Given the description of an element on the screen output the (x, y) to click on. 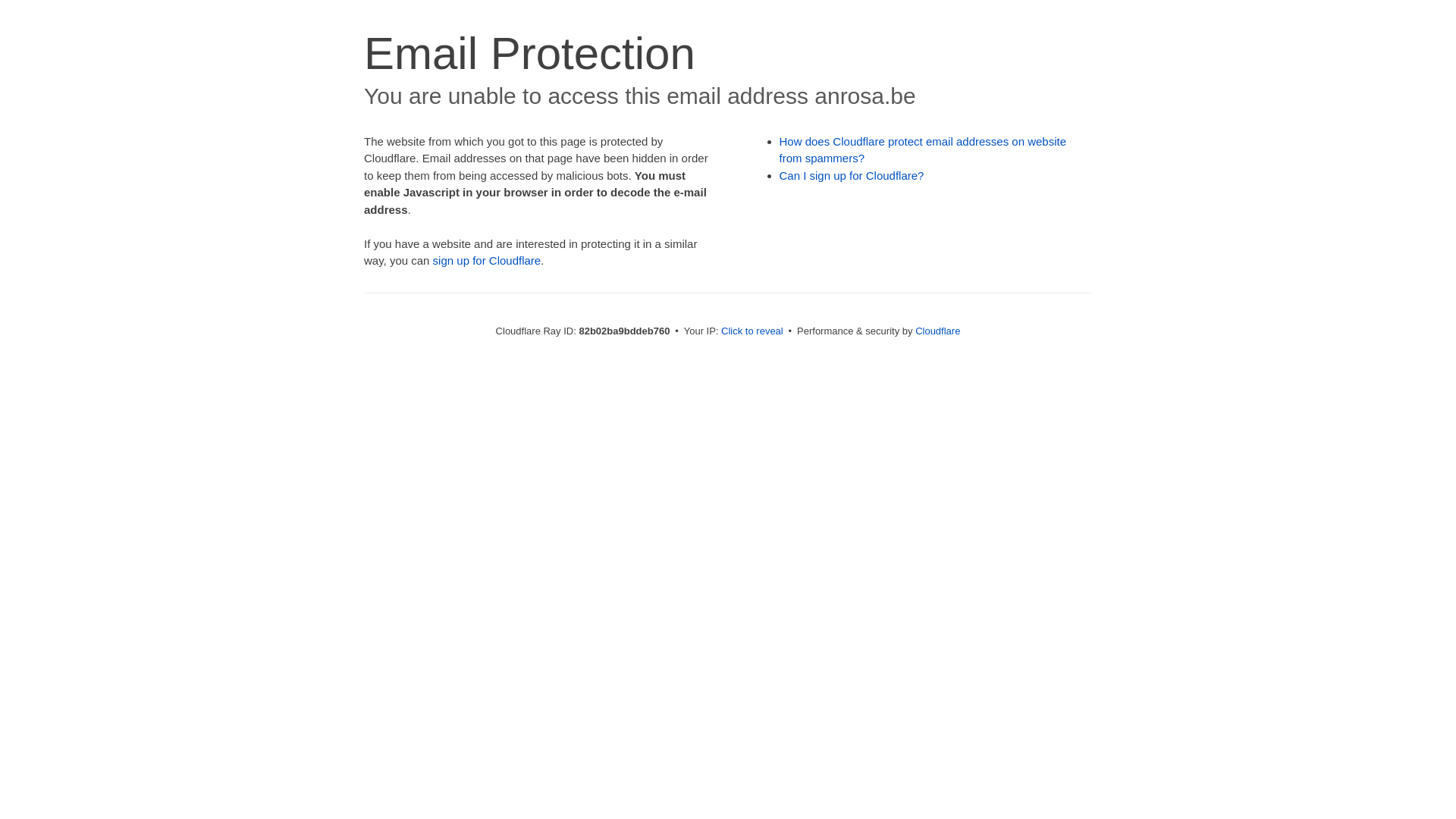
Cloudflare Element type: text (937, 330)
Click to reveal Element type: text (752, 330)
sign up for Cloudflare Element type: text (487, 260)
Can I sign up for Cloudflare? Element type: text (851, 175)
